Given the description of an element on the screen output the (x, y) to click on. 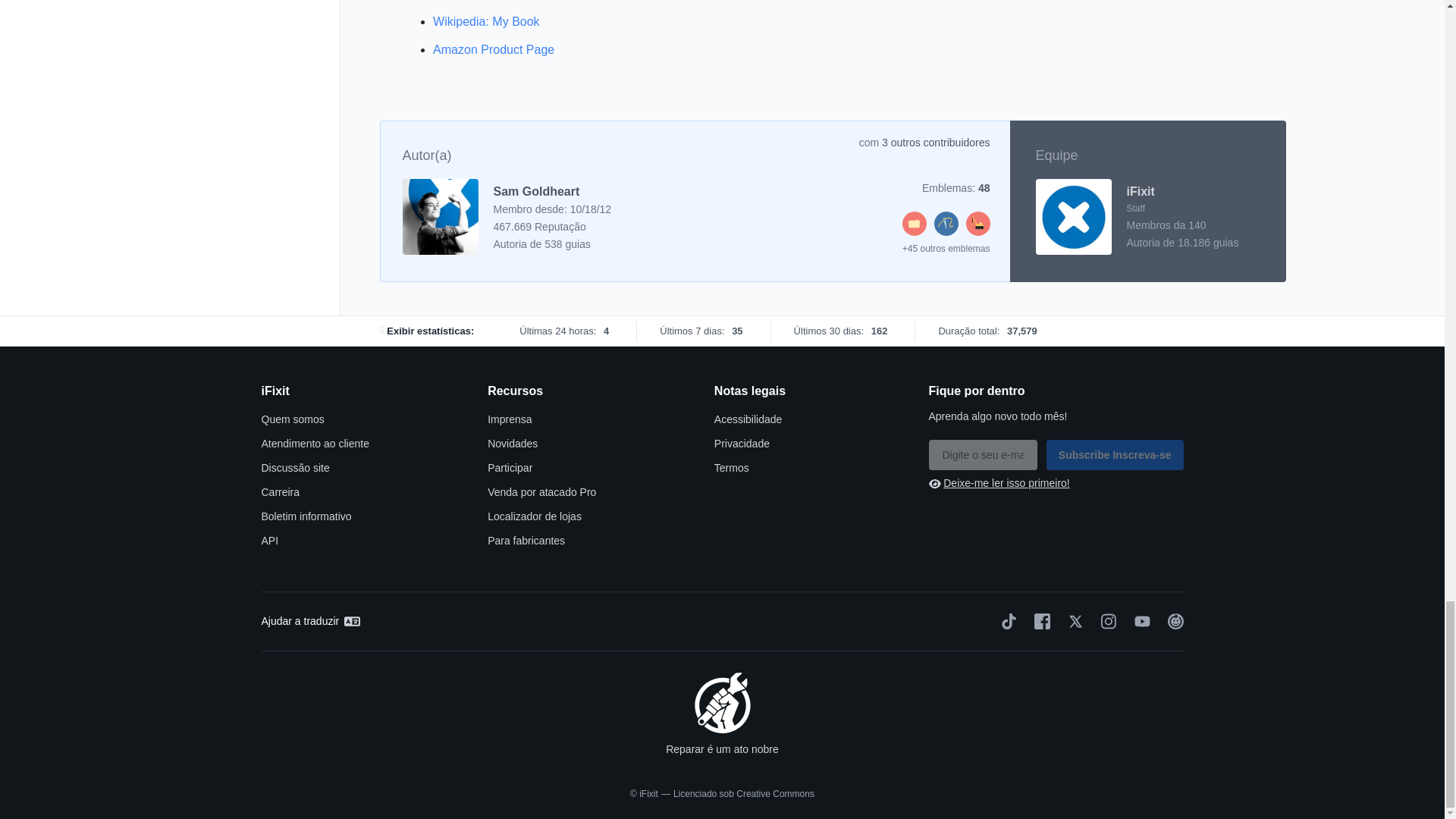
Criar um teardown de destaque (978, 232)
